Given the description of an element on the screen output the (x, y) to click on. 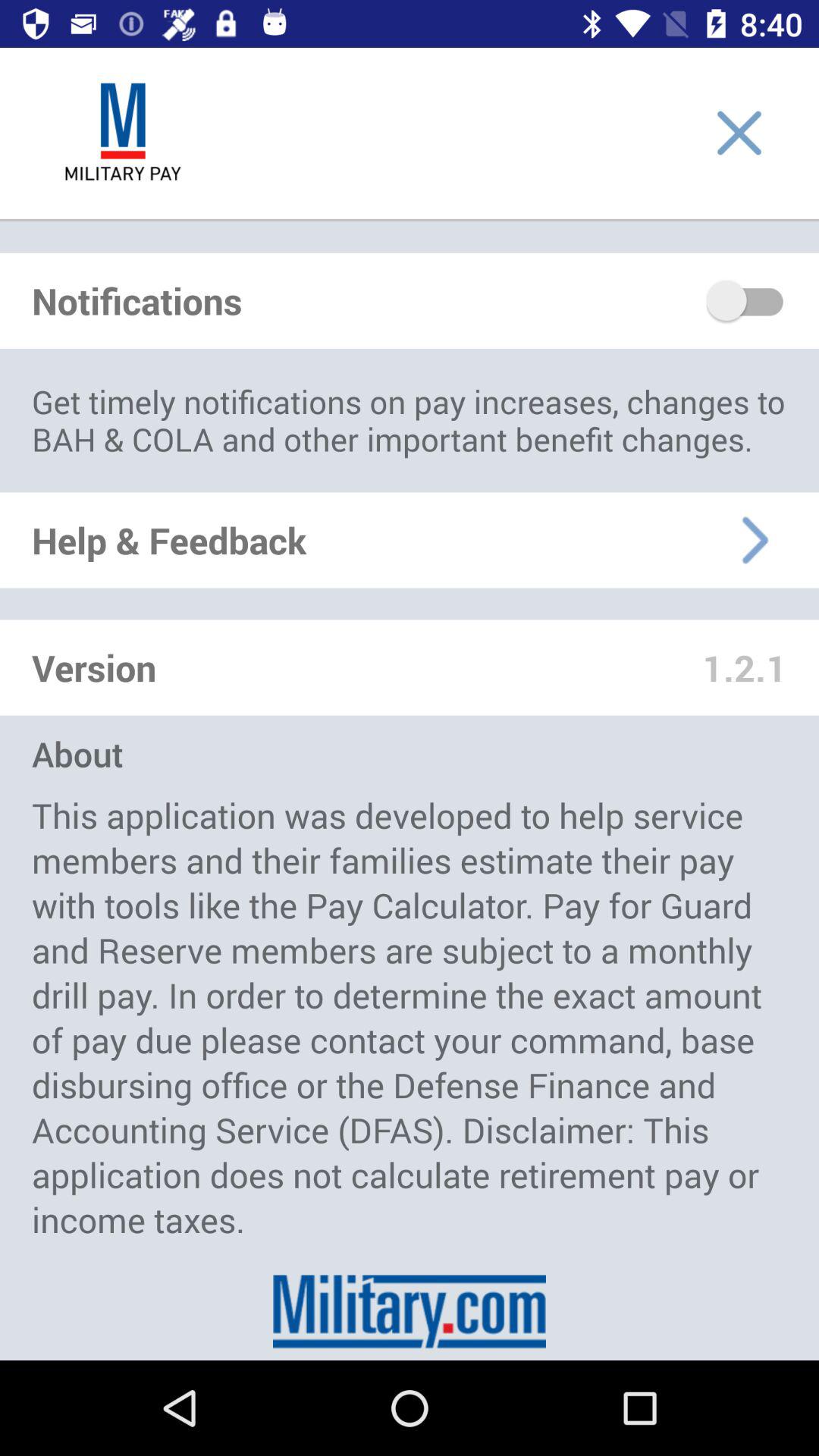
logon (123, 132)
